Given the description of an element on the screen output the (x, y) to click on. 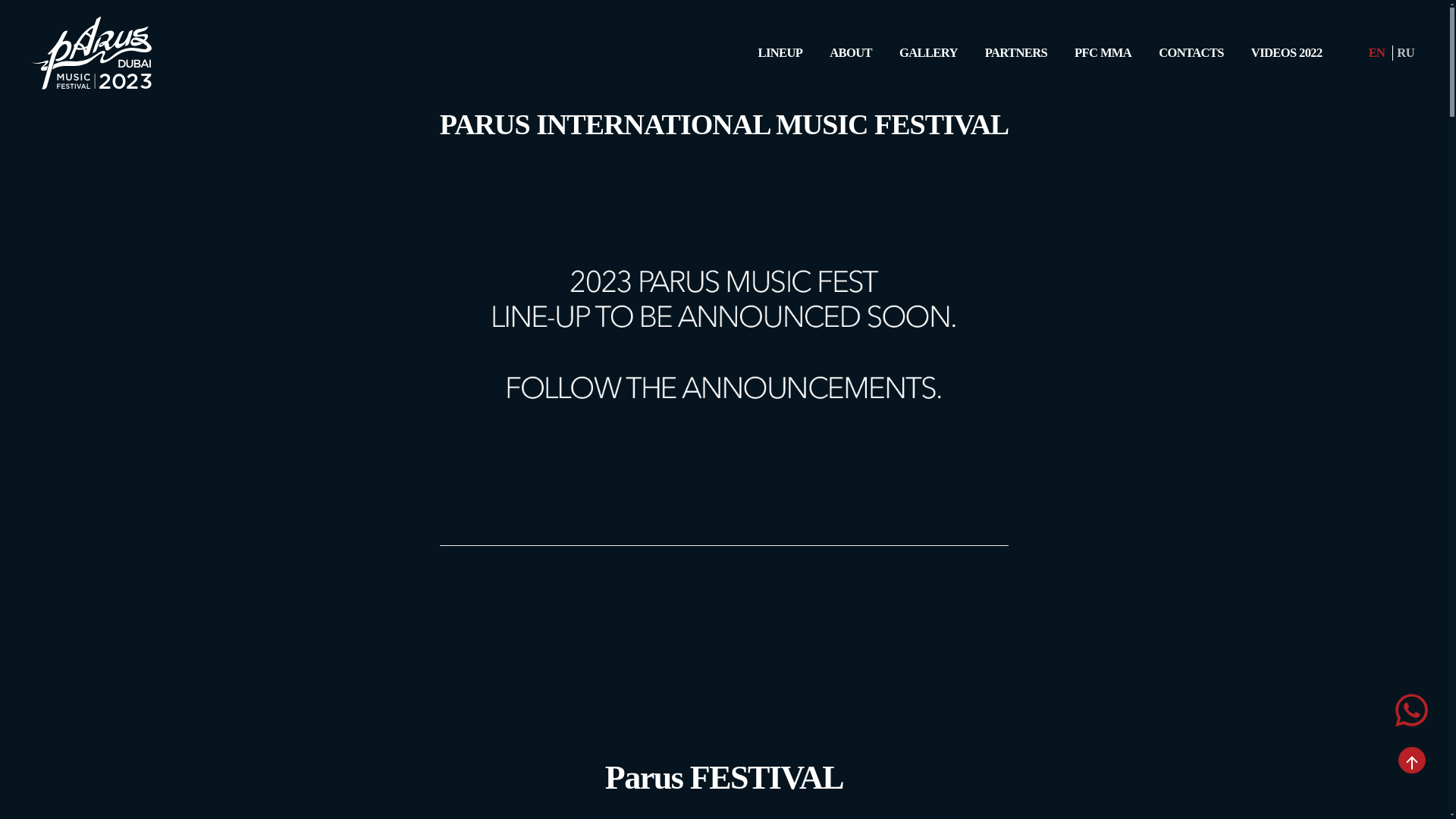
EN (1377, 52)
RU (1404, 52)
ABOUT (850, 52)
PARUS INTERNATIONAL MUSIC FESTIVAL (724, 124)
PFC MMA (1102, 52)
LINEUP (780, 52)
CONTACTS (1190, 52)
Parus FESTIVAL (724, 778)
GALLERY (928, 52)
PARTNERS (1016, 52)
